Given the description of an element on the screen output the (x, y) to click on. 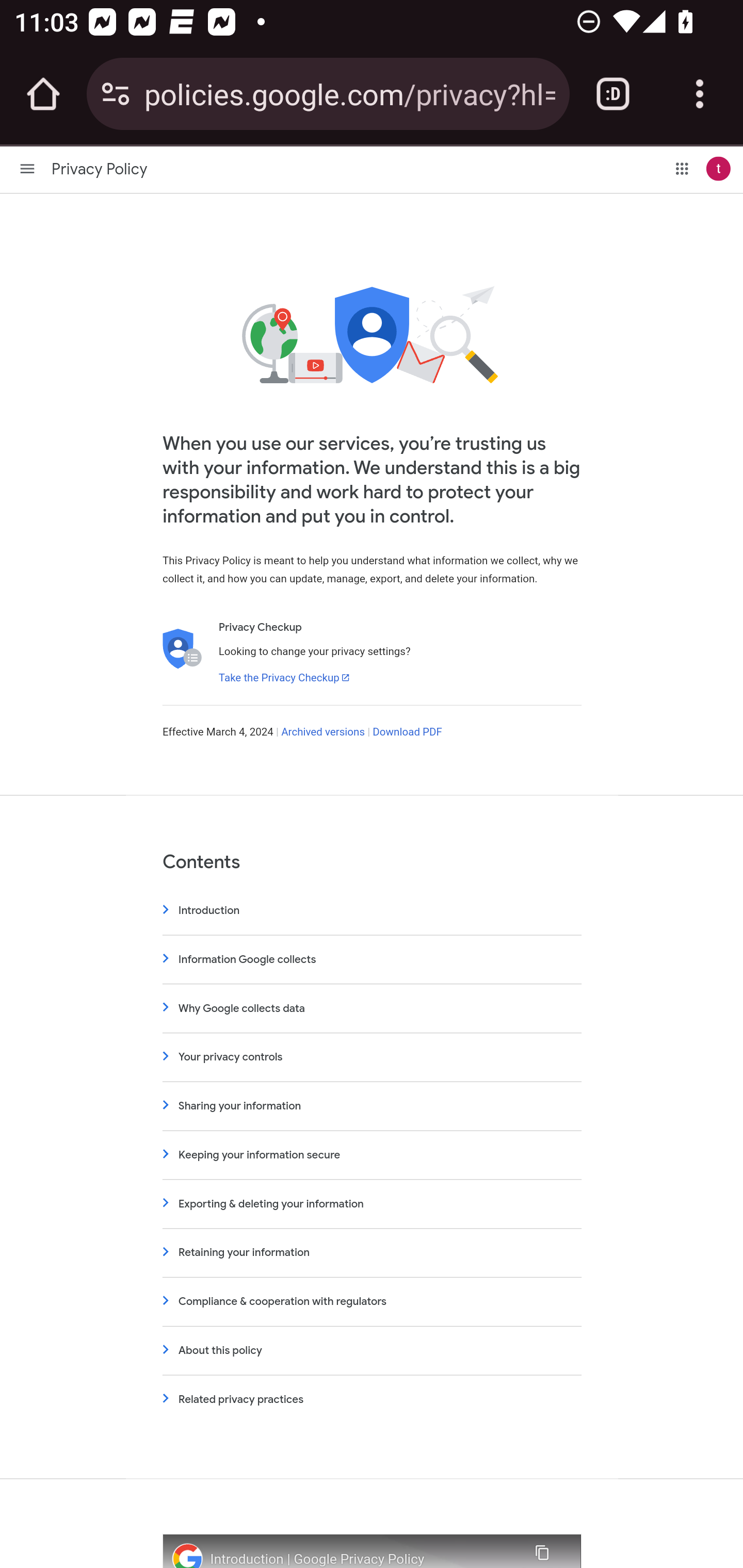
Open the home page (43, 93)
Connection is secure (115, 93)
Switch or close tabs (612, 93)
Customize and control Google Chrome (699, 93)
policies.google.com/privacy?hl=en (349, 92)
Main menu (27, 168)
Google apps (681, 168)
Take the Privacy Checkup (284, 677)
Archived versions (322, 731)
Download PDF (407, 731)
Introduction (371, 909)
Information Google collects (371, 958)
Why Google collects data (371, 1008)
Your privacy controls (371, 1056)
Sharing your information (371, 1105)
Keeping your information secure (371, 1154)
Exporting & deleting your information (371, 1204)
Retaining your information (371, 1251)
Compliance & cooperation with regulators (371, 1301)
About this policy (371, 1350)
Related privacy practices (371, 1399)
Copy link (541, 1550)
Photo image of Google (186, 1555)
Introduction | Google Privacy Policy (360, 1558)
